Given the description of an element on the screen output the (x, y) to click on. 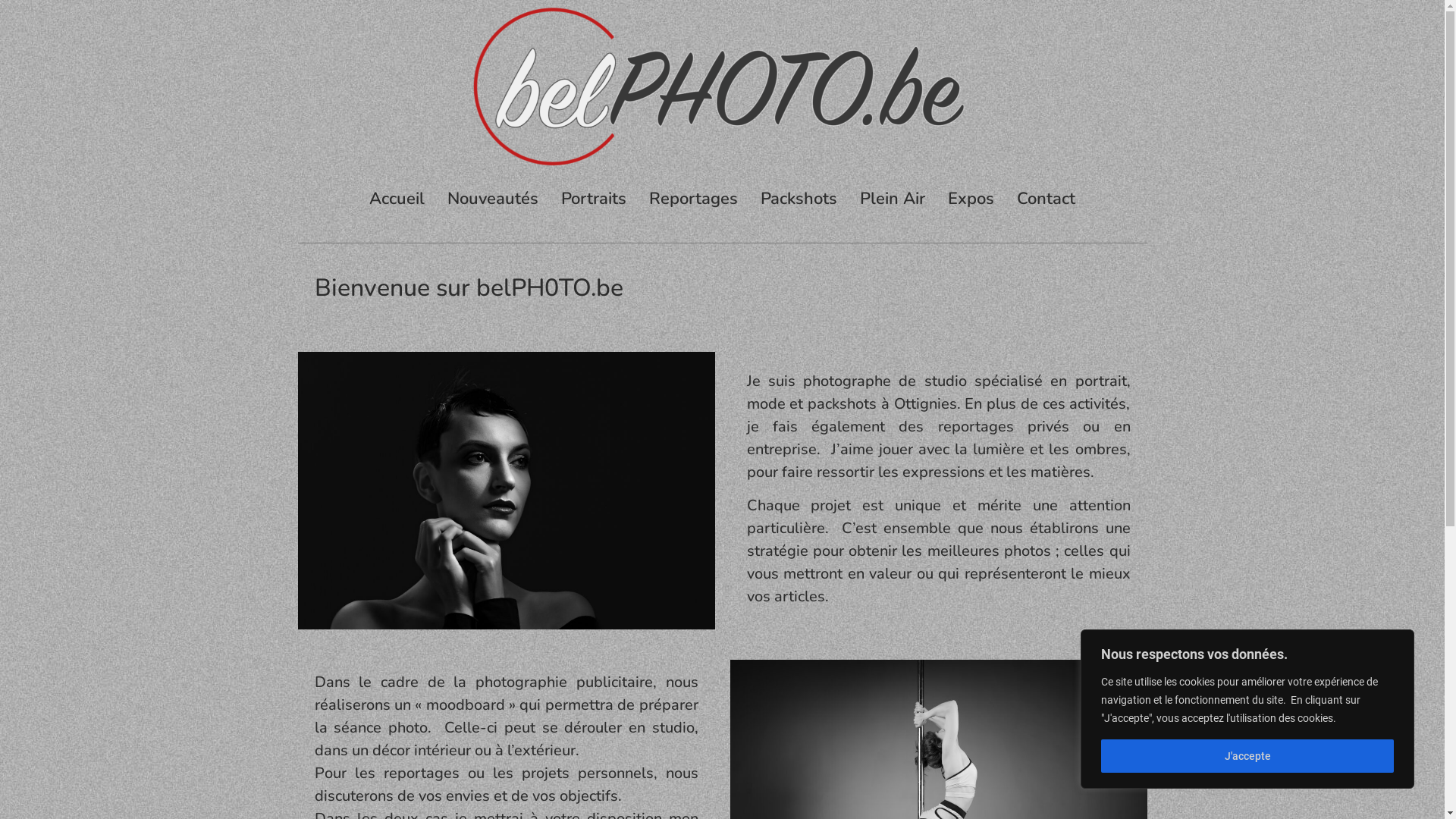
Contact Element type: text (1045, 198)
J'accepte Element type: text (1247, 755)
Accueil Element type: text (396, 198)
Packshots Element type: text (798, 198)
Reportages Element type: text (693, 198)
Expos Element type: text (970, 198)
Portraits Element type: text (593, 198)
Plein Air Element type: text (892, 198)
